Given the description of an element on the screen output the (x, y) to click on. 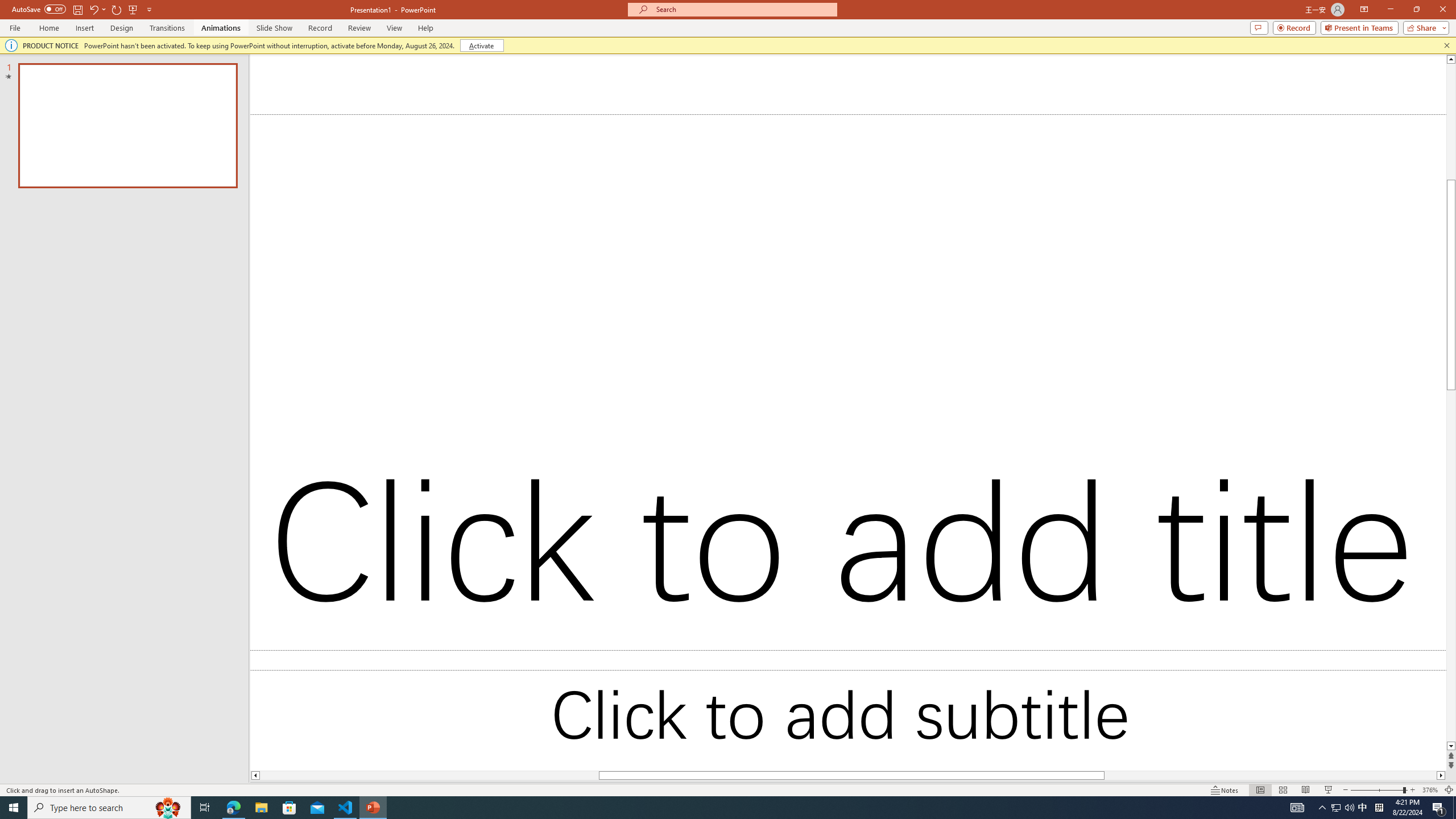
Page down (1278, 686)
Asian Layout (568, 77)
Class: MsoCommandBar (728, 773)
Zoom 95% (1438, 773)
Heading 1 (880, 91)
Decrease Indent (515, 77)
Strikethrough (177, 102)
Show Preview (1334, 707)
